Given the description of an element on the screen output the (x, y) to click on. 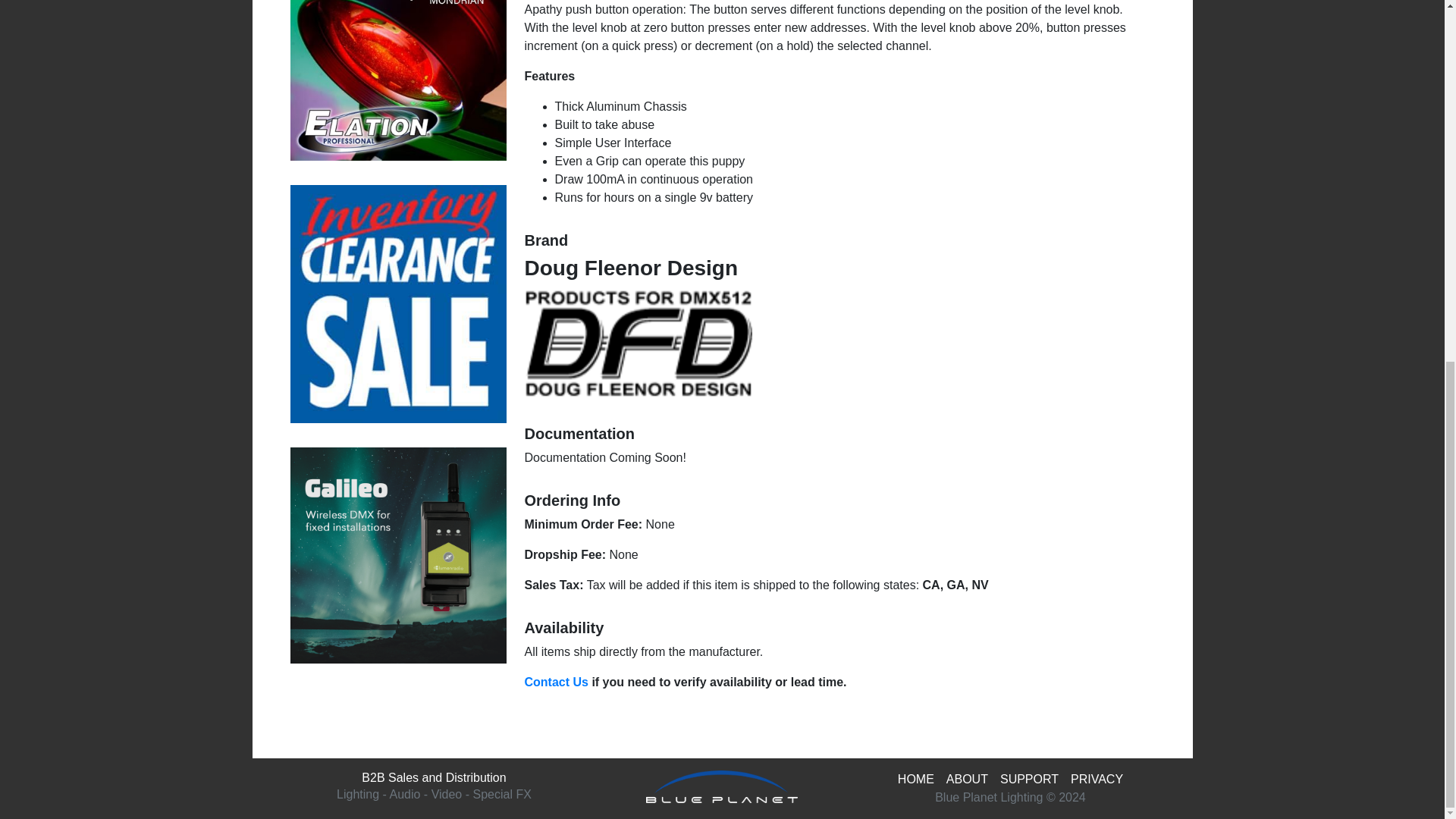
Contact Us (556, 681)
Doug Fleenor Design (638, 342)
